Given the description of an element on the screen output the (x, y) to click on. 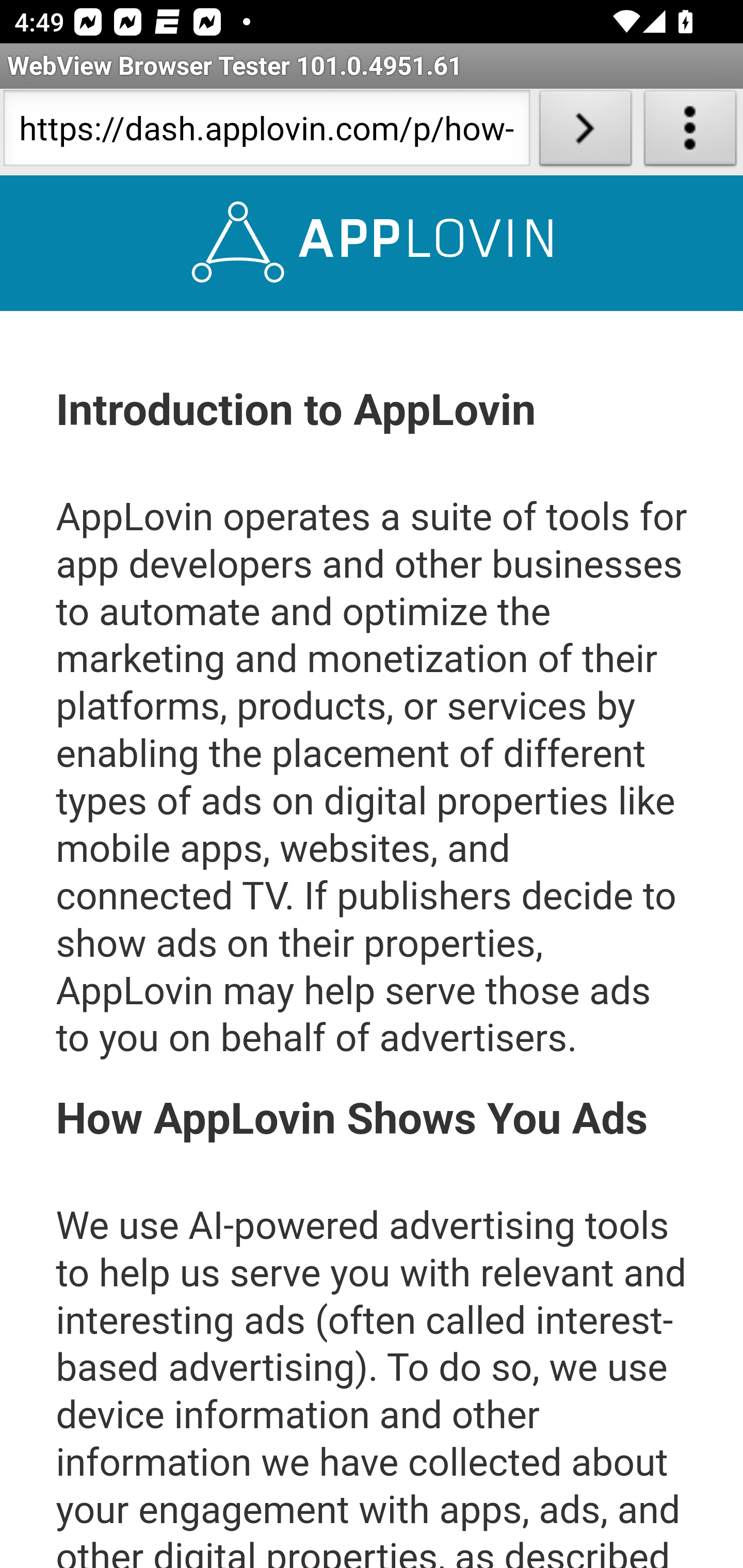
Load URL (585, 132)
About WebView (690, 132)
